Given the description of an element on the screen output the (x, y) to click on. 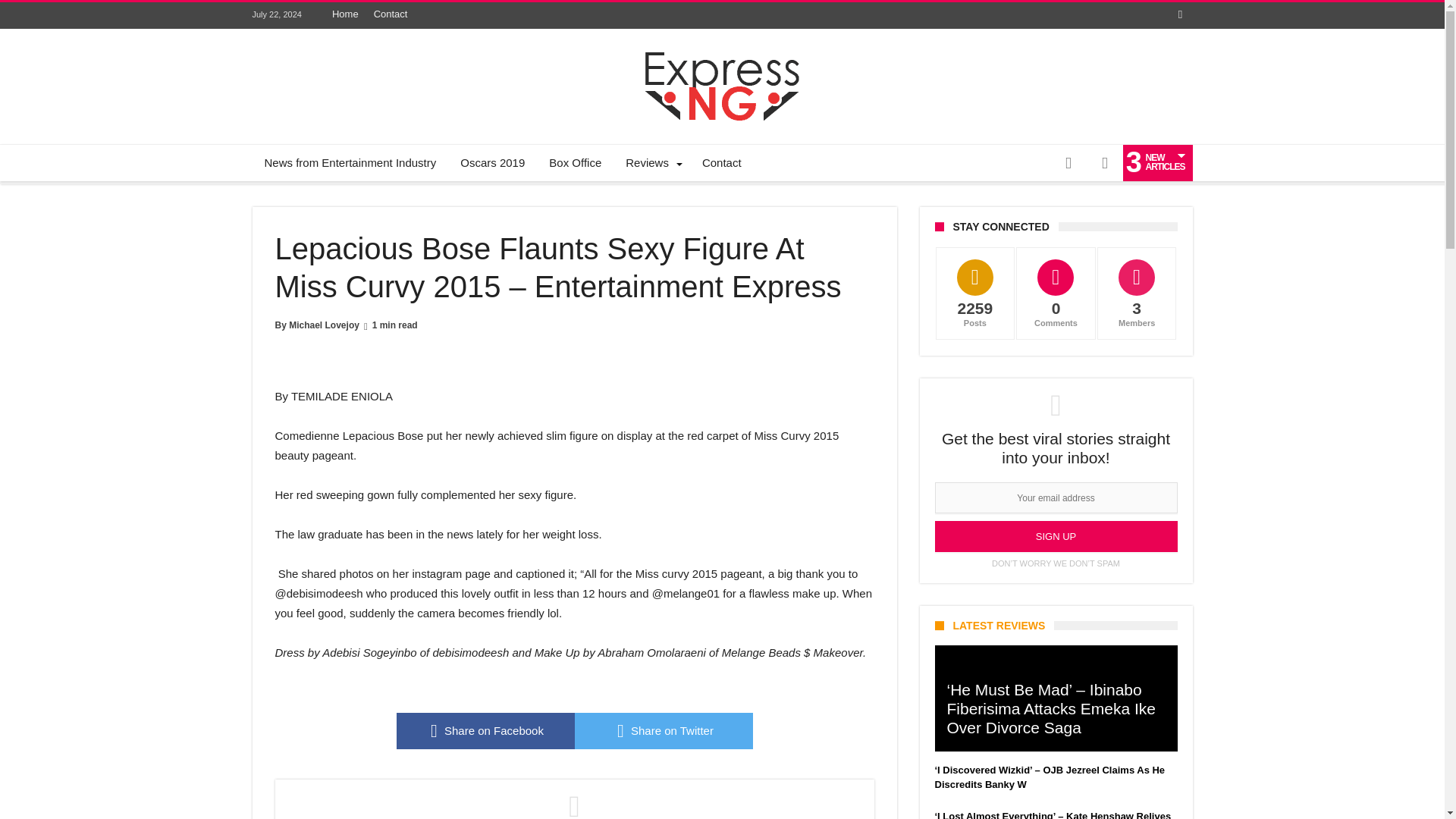
Contact (390, 14)
Reviews (651, 162)
Share on Twitter (663, 730)
twitter (663, 730)
News from Entertainment Industry (349, 162)
Facebook (1179, 15)
Share on Facebook (484, 730)
Michael Lovejoy (323, 325)
Oscars 2019 (492, 162)
Sign up (1055, 536)
Entertainment Express (722, 50)
facebook (484, 730)
Home (345, 14)
Box Office (574, 162)
